Given the description of an element on the screen output the (x, y) to click on. 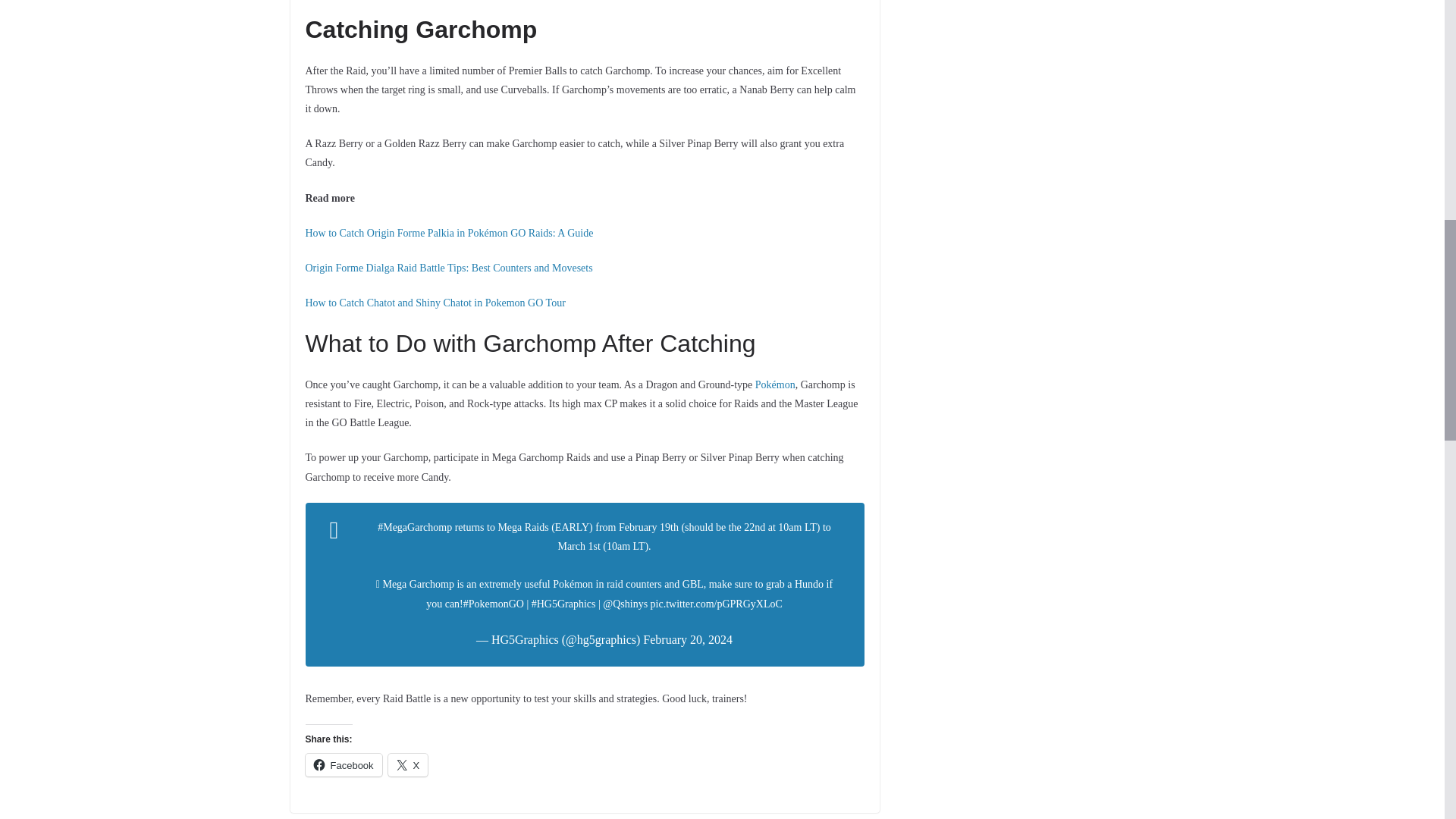
X (408, 764)
Click to share on X (408, 764)
February 20, 2024 (687, 639)
Facebook (342, 764)
How to Catch Chatot and Shiny Chatot in Pokemon GO Tour (434, 302)
Click to share on Facebook (342, 764)
